Given the description of an element on the screen output the (x, y) to click on. 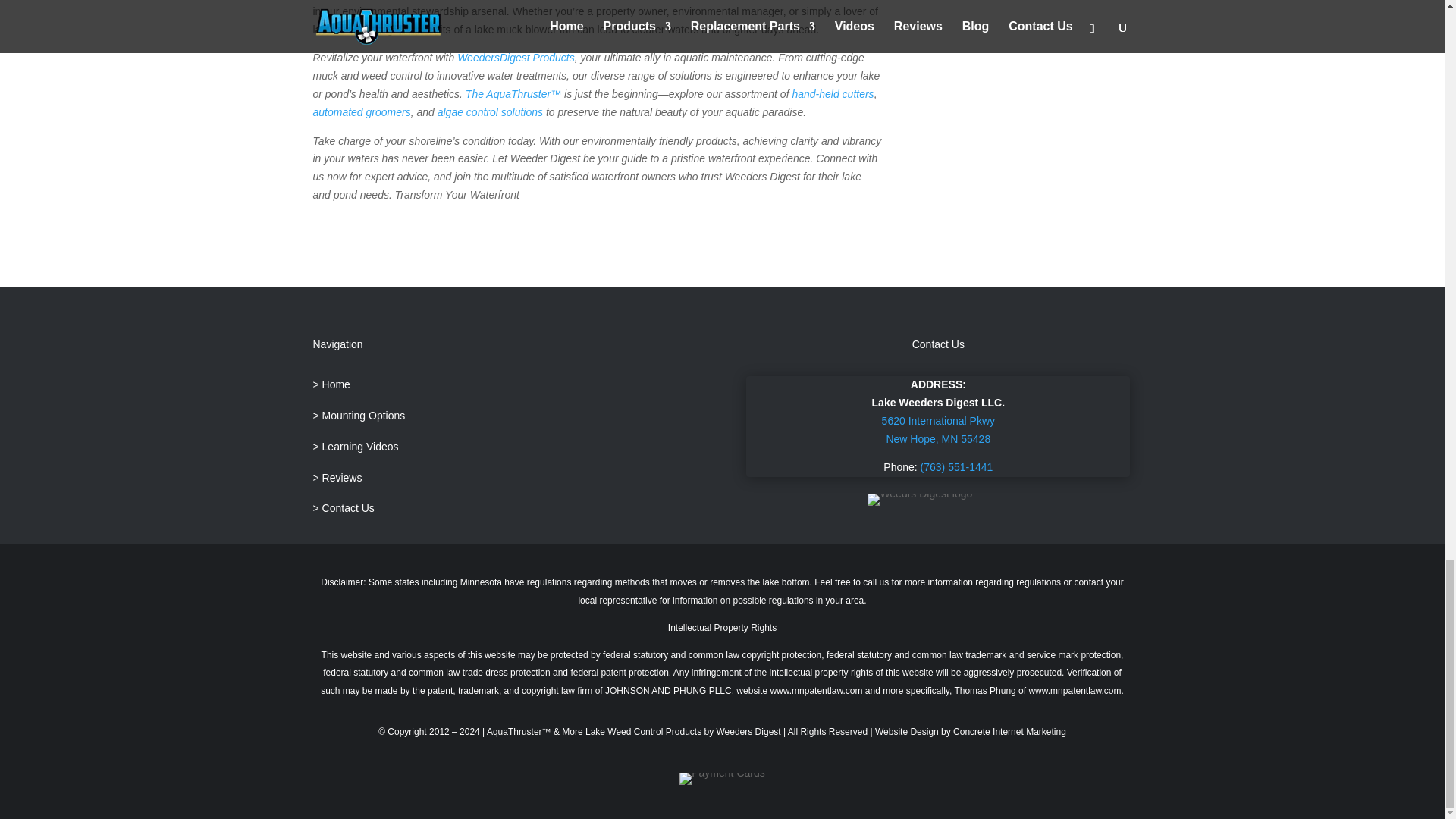
New Hope, MN 55428 (937, 439)
algae control solutions (490, 111)
automated groomers (361, 111)
5620 International Pkwy (938, 420)
wd logo png for dark background (919, 499)
hand-held cutters (832, 93)
WeedersDigest Products (516, 57)
